Given the description of an element on the screen output the (x, y) to click on. 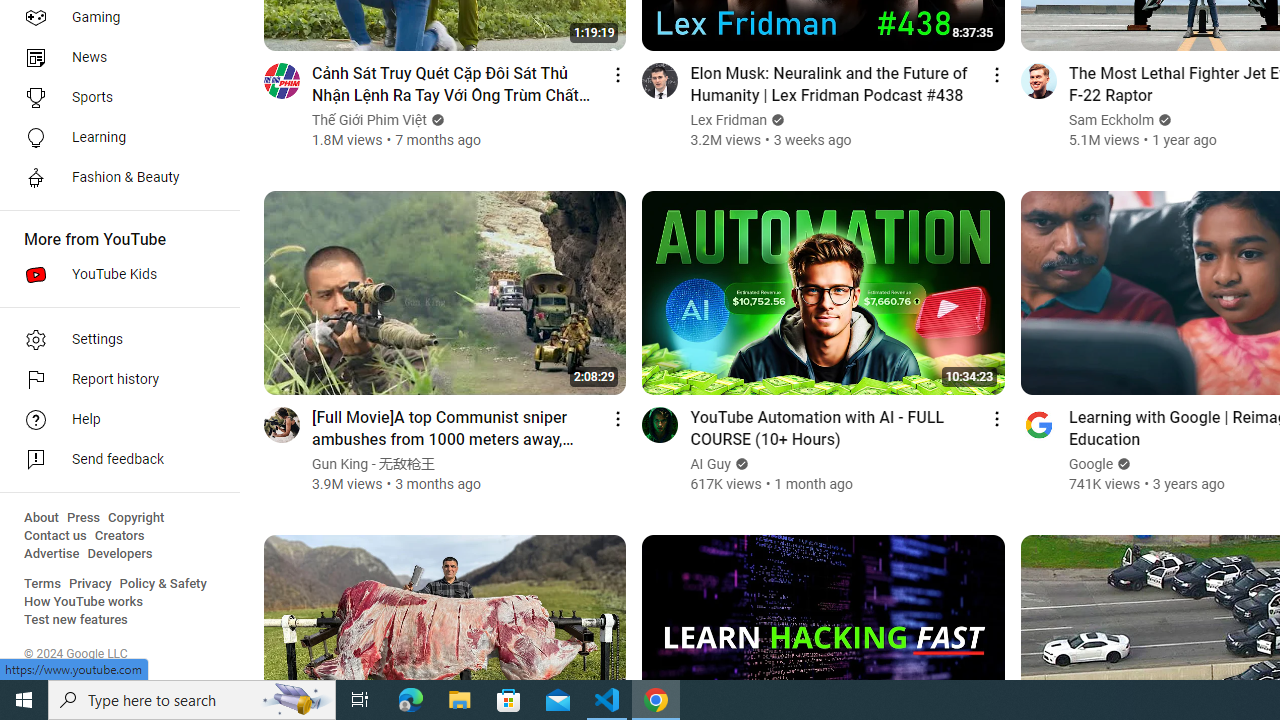
Go to channel (1038, 424)
News (113, 57)
